Given the description of an element on the screen output the (x, y) to click on. 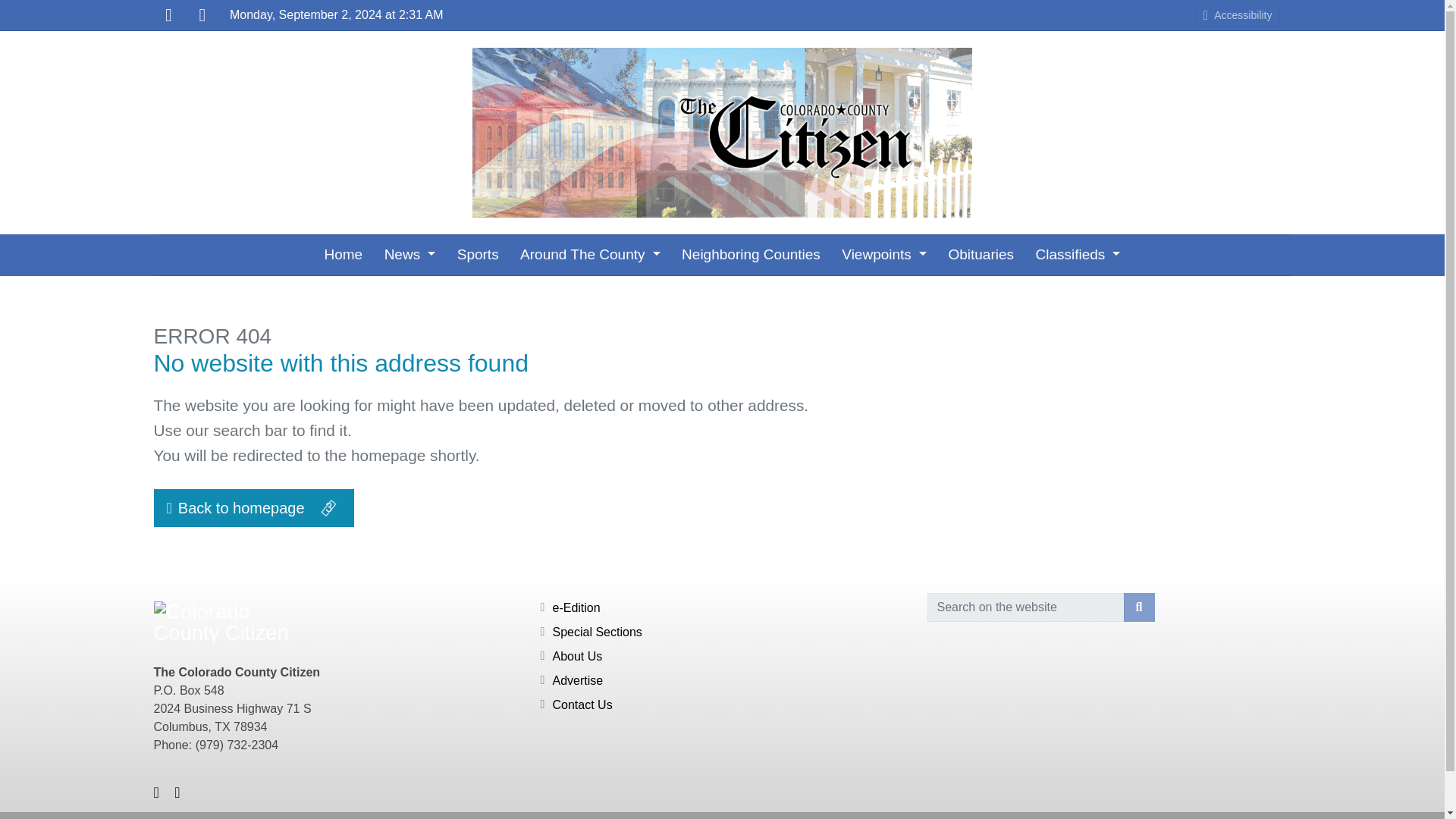
Around The County (590, 255)
Go to Facebook.com (167, 15)
Sports (478, 255)
X.com (201, 15)
About Us (576, 656)
Classifieds (1077, 255)
Facebook.com (167, 15)
Go to X.com (201, 15)
Special Sections (596, 631)
